Given the description of an element on the screen output the (x, y) to click on. 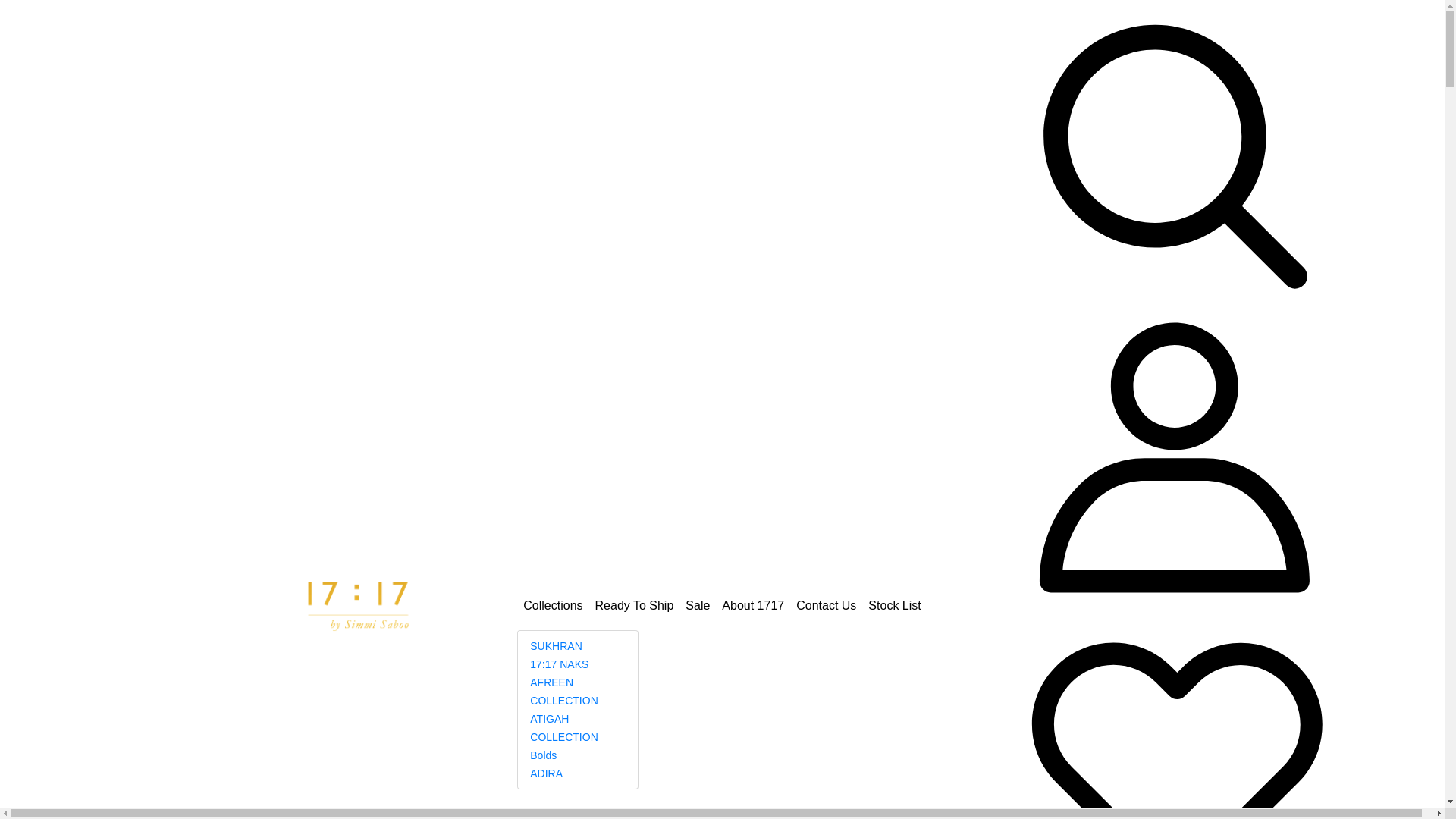
17:17 NAKS Element type: text (559, 664)
ATIGAH COLLECTION Element type: text (563, 727)
Stock List Element type: text (894, 605)
image/svg+xml Element type: text (1173, 150)
Sale Element type: text (697, 605)
Ready To Ship Element type: text (634, 605)
Contact Us Element type: text (826, 605)
image/svg+xml Element type: text (1173, 756)
SUKHRAN Element type: text (555, 646)
image/svg+xml Element type: text (1173, 453)
Collections Element type: text (552, 605)
ADIRA Element type: text (546, 773)
AFREEN COLLECTION Element type: text (563, 691)
About 1717 Element type: text (752, 605)
Bolds Element type: text (543, 755)
